Given the description of an element on the screen output the (x, y) to click on. 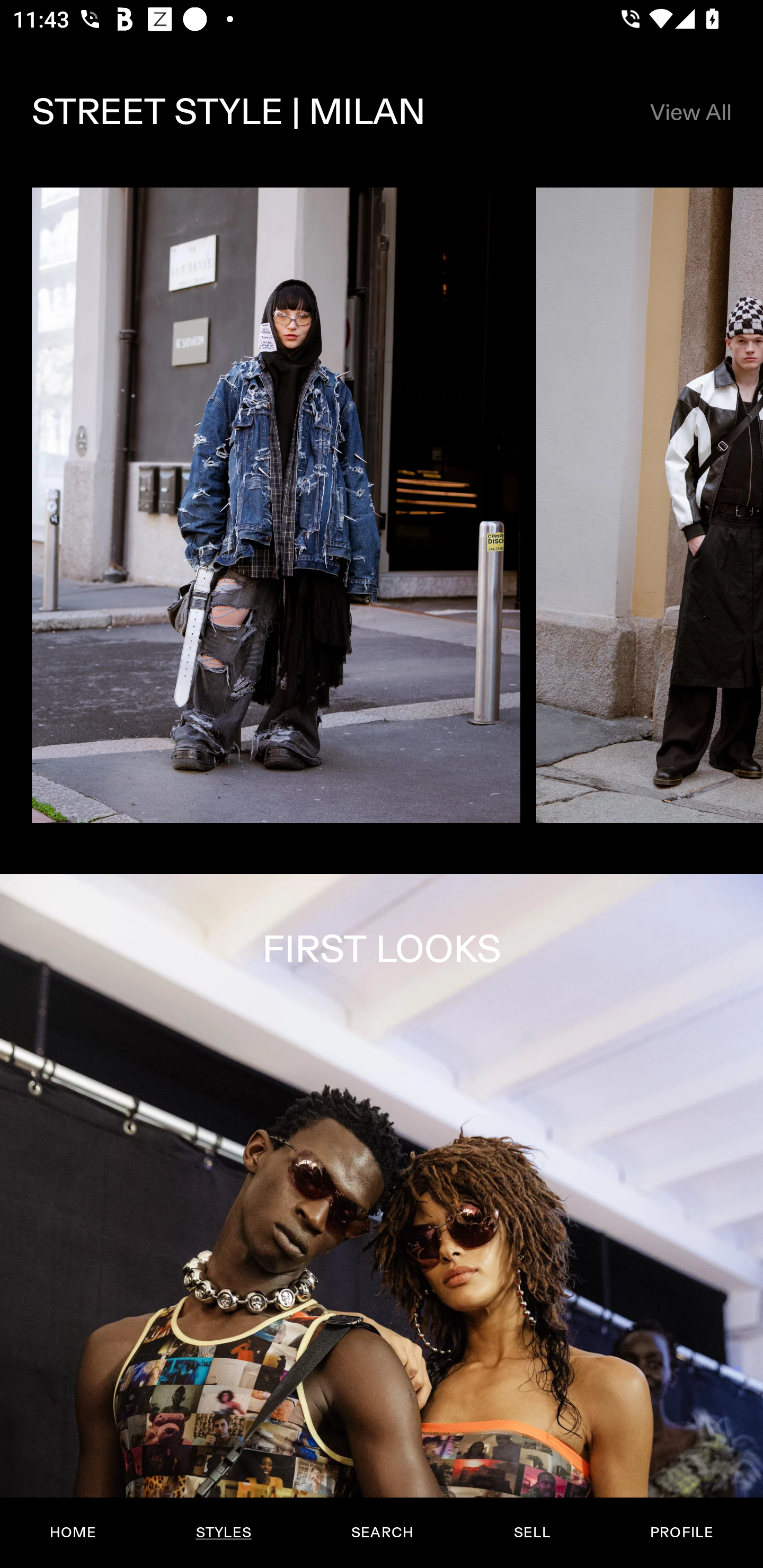
View All (690, 112)
FIRST LOOKS DIESEL FALL '24 (381, 1220)
HOME (72, 1532)
STYLES (222, 1532)
SEARCH (381, 1532)
SELL (531, 1532)
PROFILE (681, 1532)
